Given the description of an element on the screen output the (x, y) to click on. 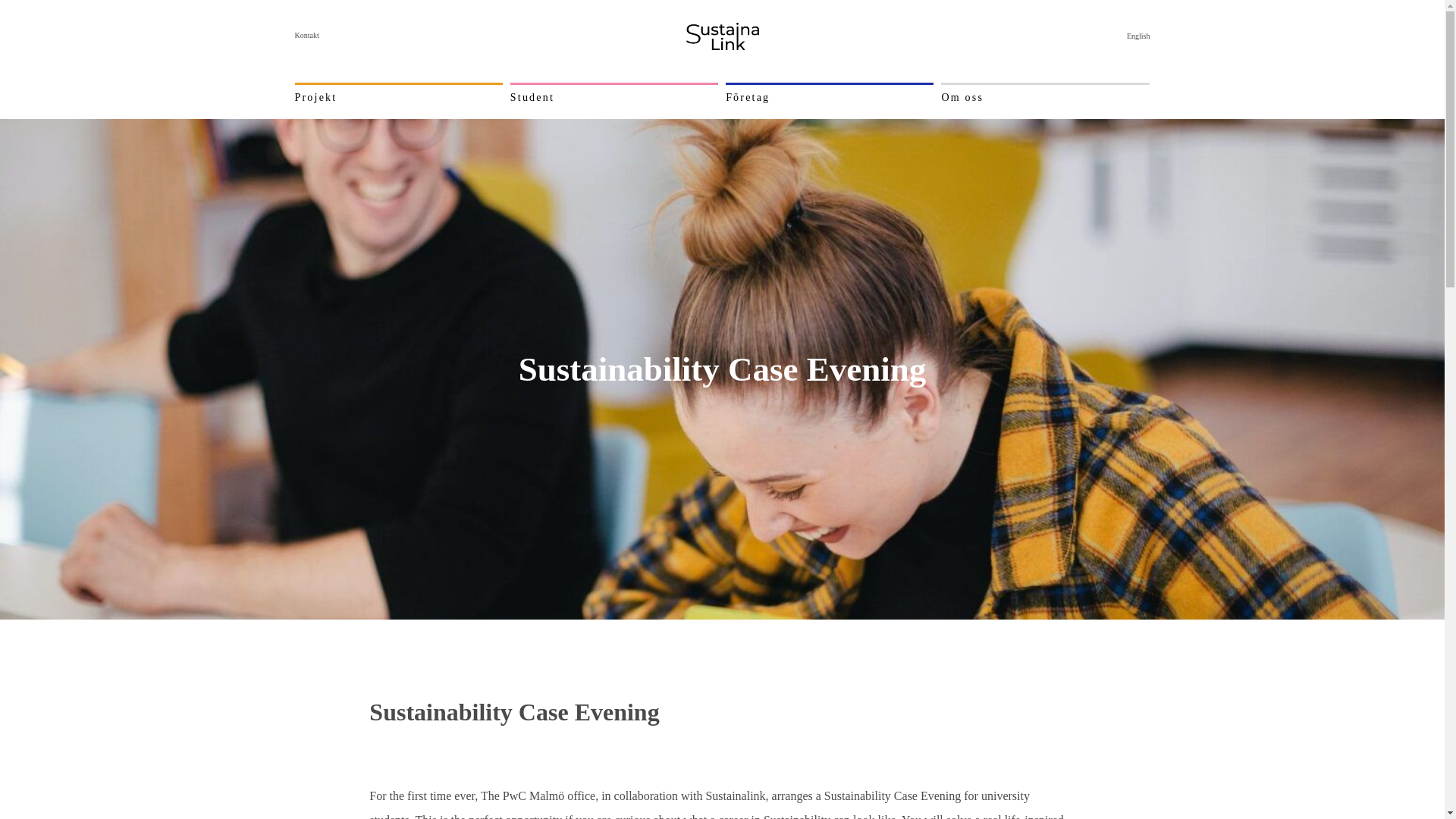
Student (532, 97)
Projekt (315, 97)
Om oss (962, 97)
Kontakt (306, 35)
English (1138, 35)
